Given the description of an element on the screen output the (x, y) to click on. 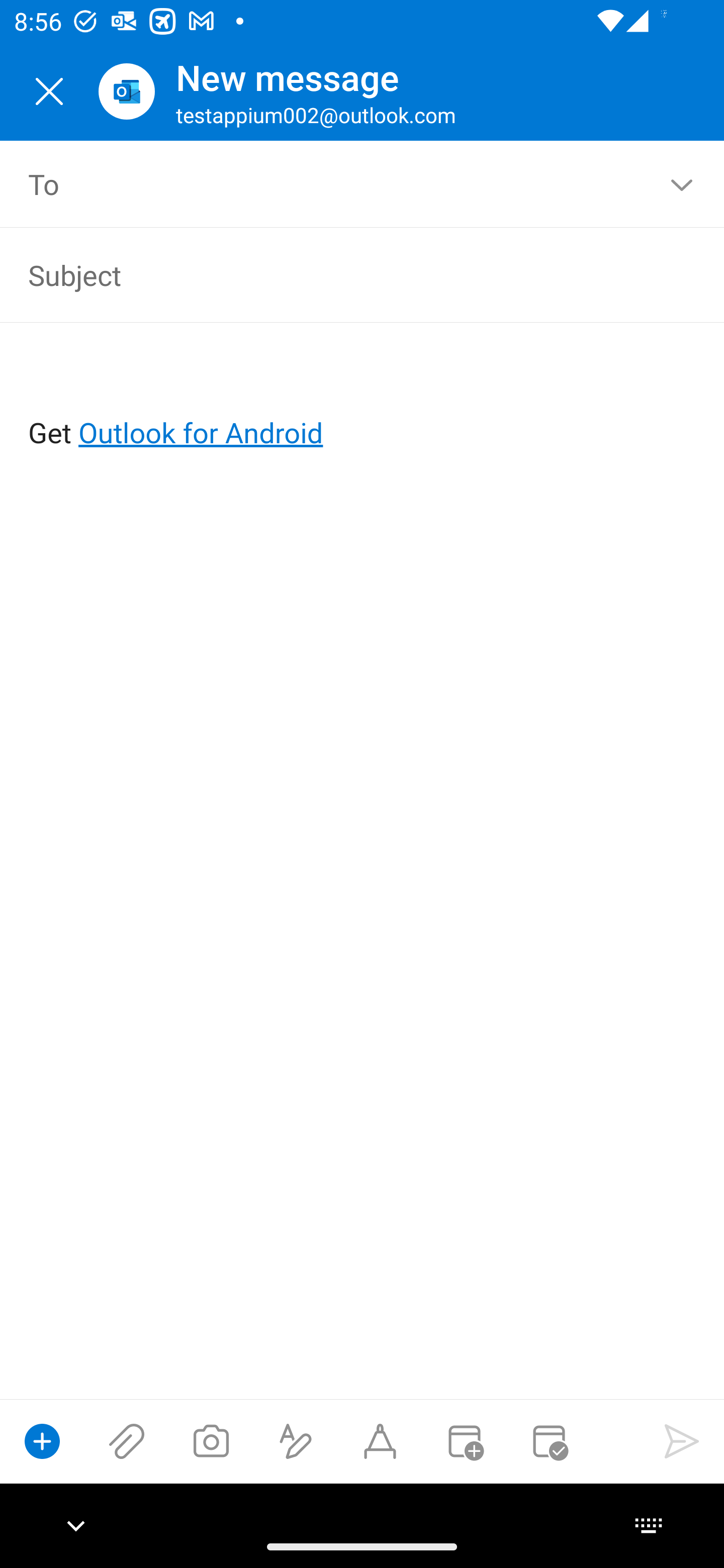
Close (49, 91)
Subject (333, 274)
Show compose options (42, 1440)
Attach files (126, 1440)
Take a photo (210, 1440)
Show formatting options (295, 1440)
Start Ink compose (380, 1440)
Convert to event (464, 1440)
Send availability (548, 1440)
Send (681, 1440)
